Given the description of an element on the screen output the (x, y) to click on. 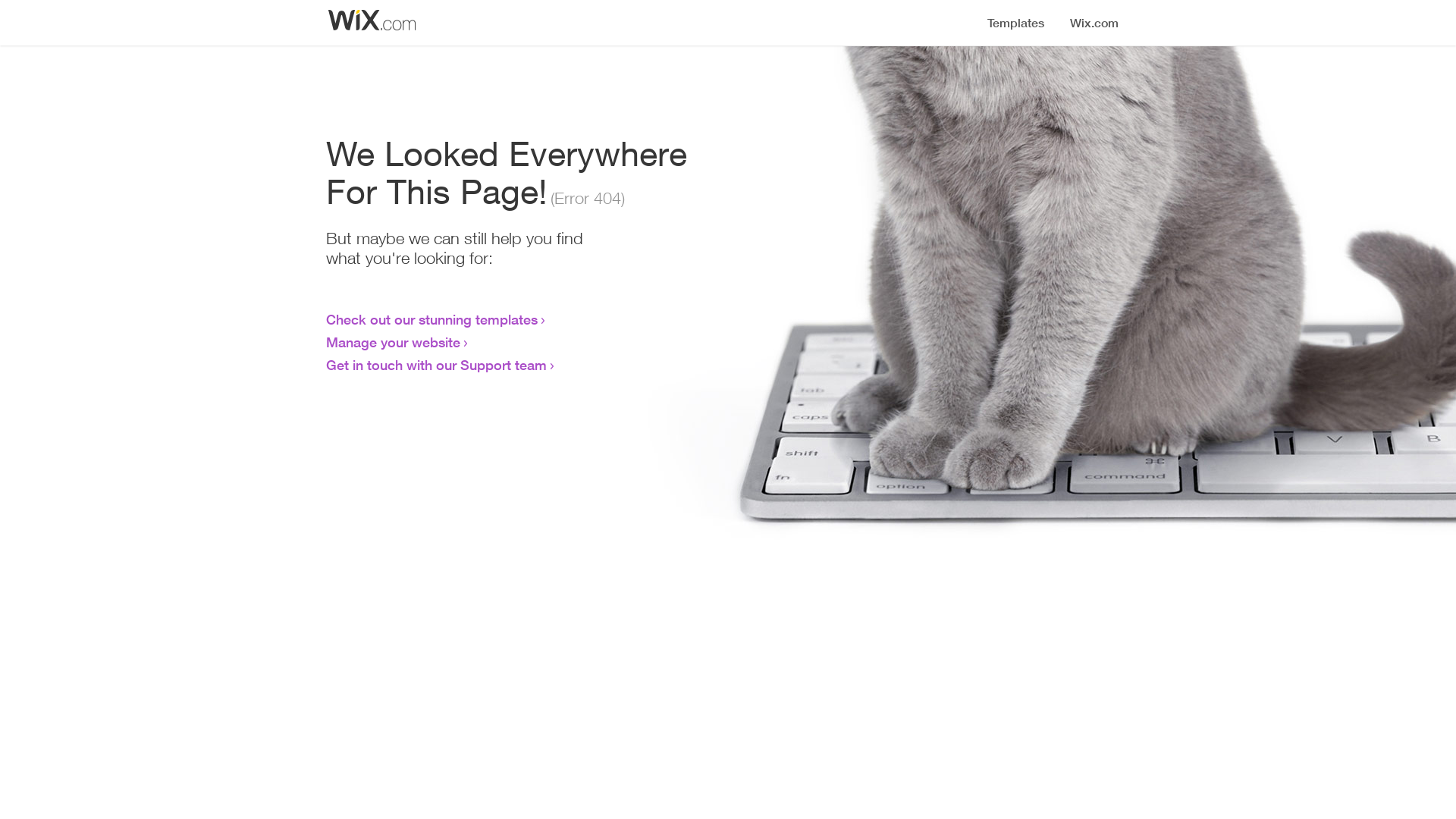
Get in touch with our Support team Element type: text (436, 364)
Manage your website Element type: text (393, 341)
Check out our stunning templates Element type: text (431, 318)
